Given the description of an element on the screen output the (x, y) to click on. 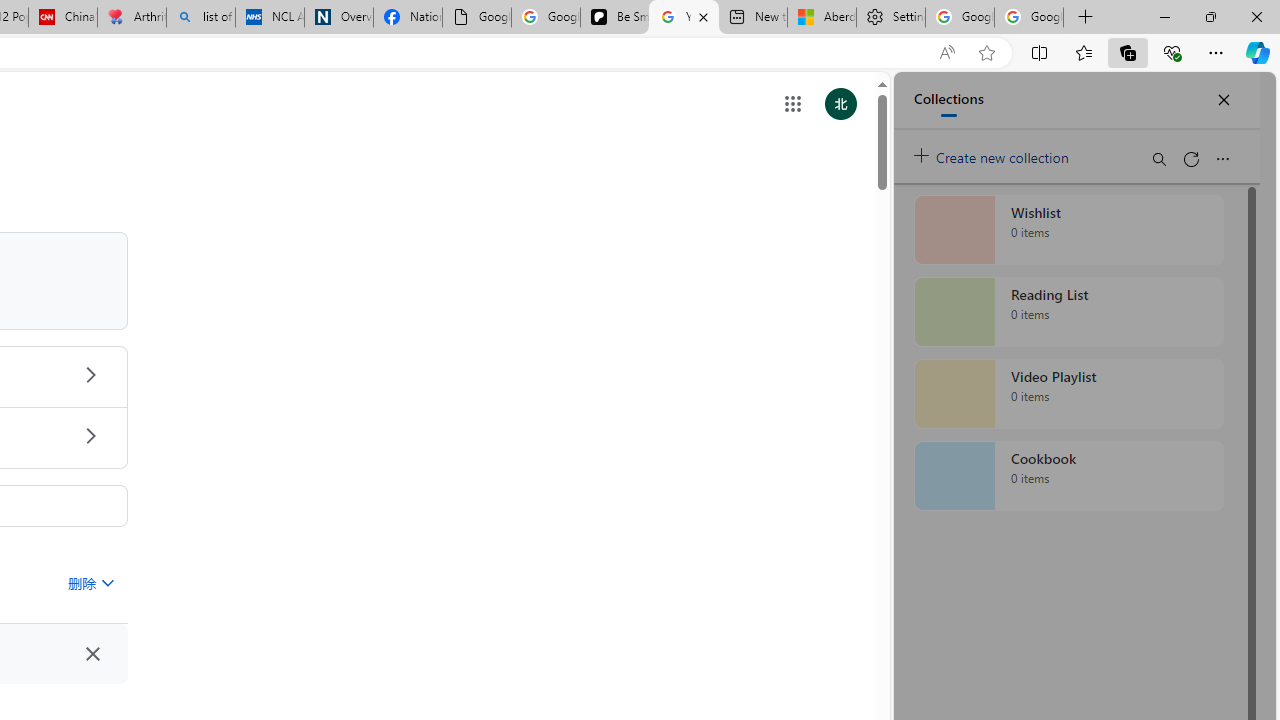
Class: asE2Ub NMm5M (107, 582)
Google Analytics Opt-out Browser Add-on Download Page (476, 17)
Class: gD71Gb NMm5M hhikbc (90, 435)
